Given the description of an element on the screen output the (x, y) to click on. 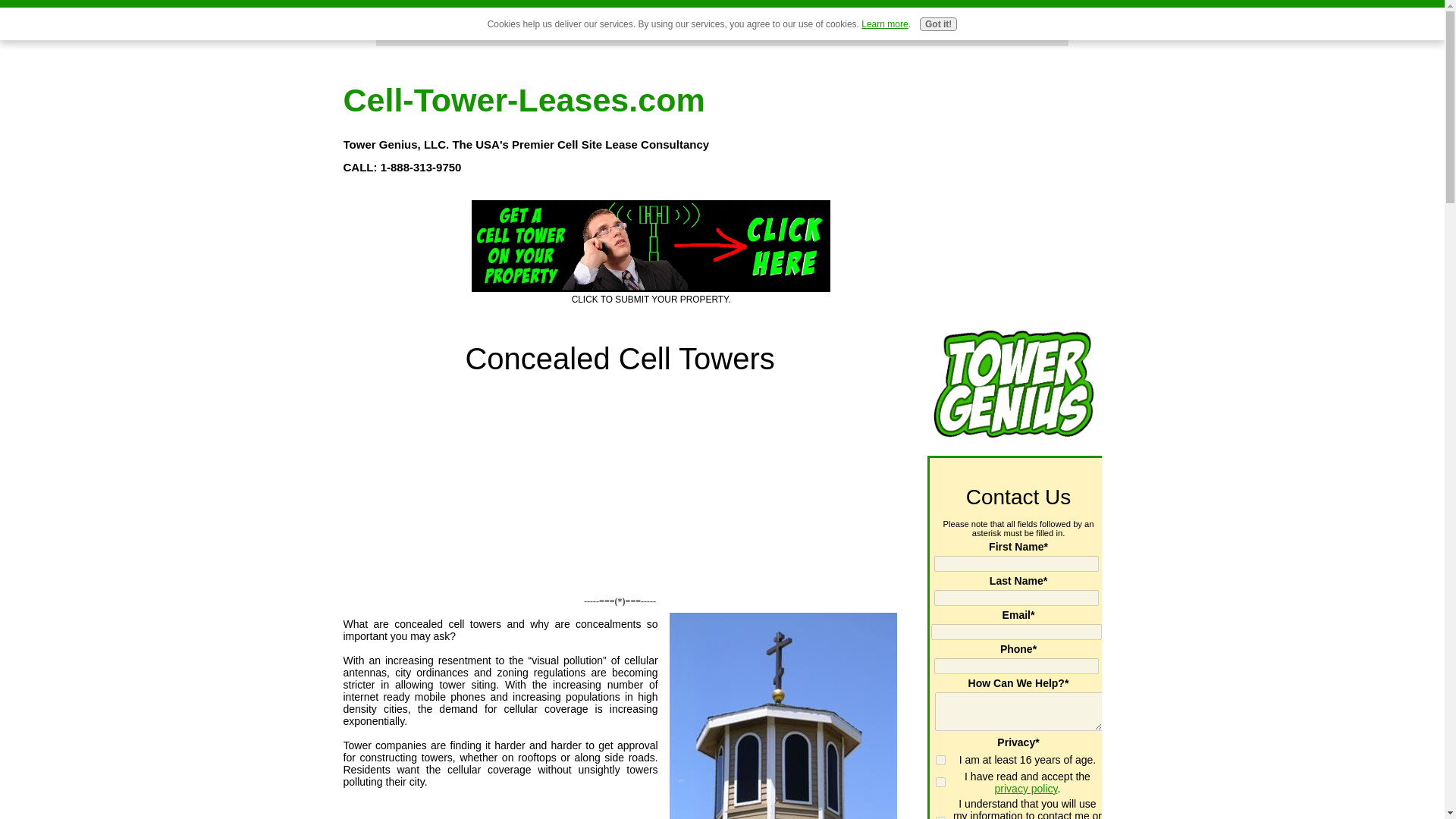
YouTube video player (622, 483)
HOME (400, 35)
LEASE RATES (471, 35)
Cell-Tower-Leases.com (523, 99)
I am at least 16 years of age. (940, 759)
